Given the description of an element on the screen output the (x, y) to click on. 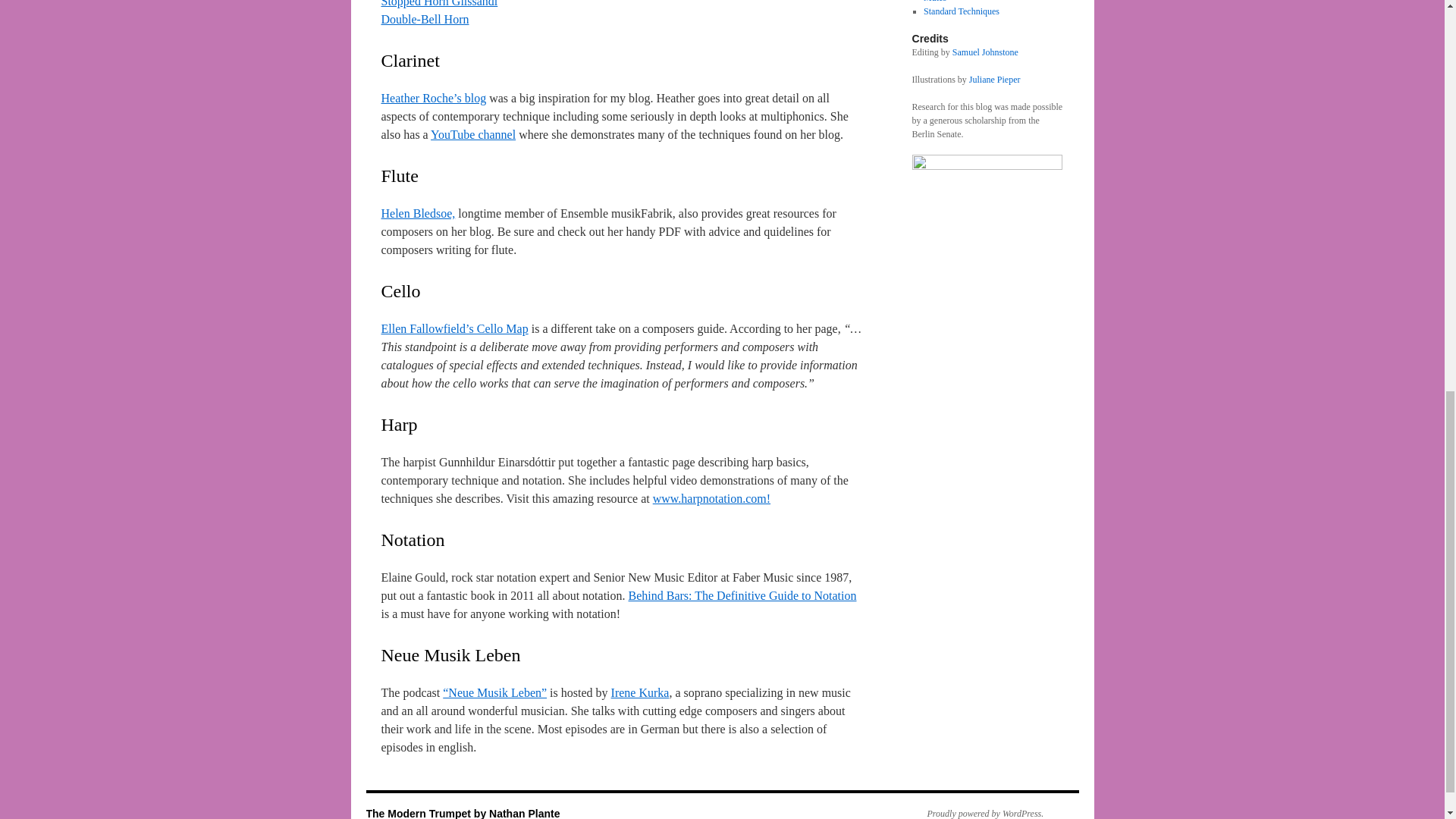
Stopped Horn Glissandi (438, 3)
Helen Bledsoe, (417, 213)
Mutes (934, 1)
www.harpnotation.com! (711, 498)
Standard Techniques (960, 10)
Irene Kurka (640, 692)
Behind Bars: The Definitive Guide to Notation (742, 594)
Samuel Johnstone (984, 51)
Juliane Pieper (994, 79)
YouTube channel (472, 133)
